Given the description of an element on the screen output the (x, y) to click on. 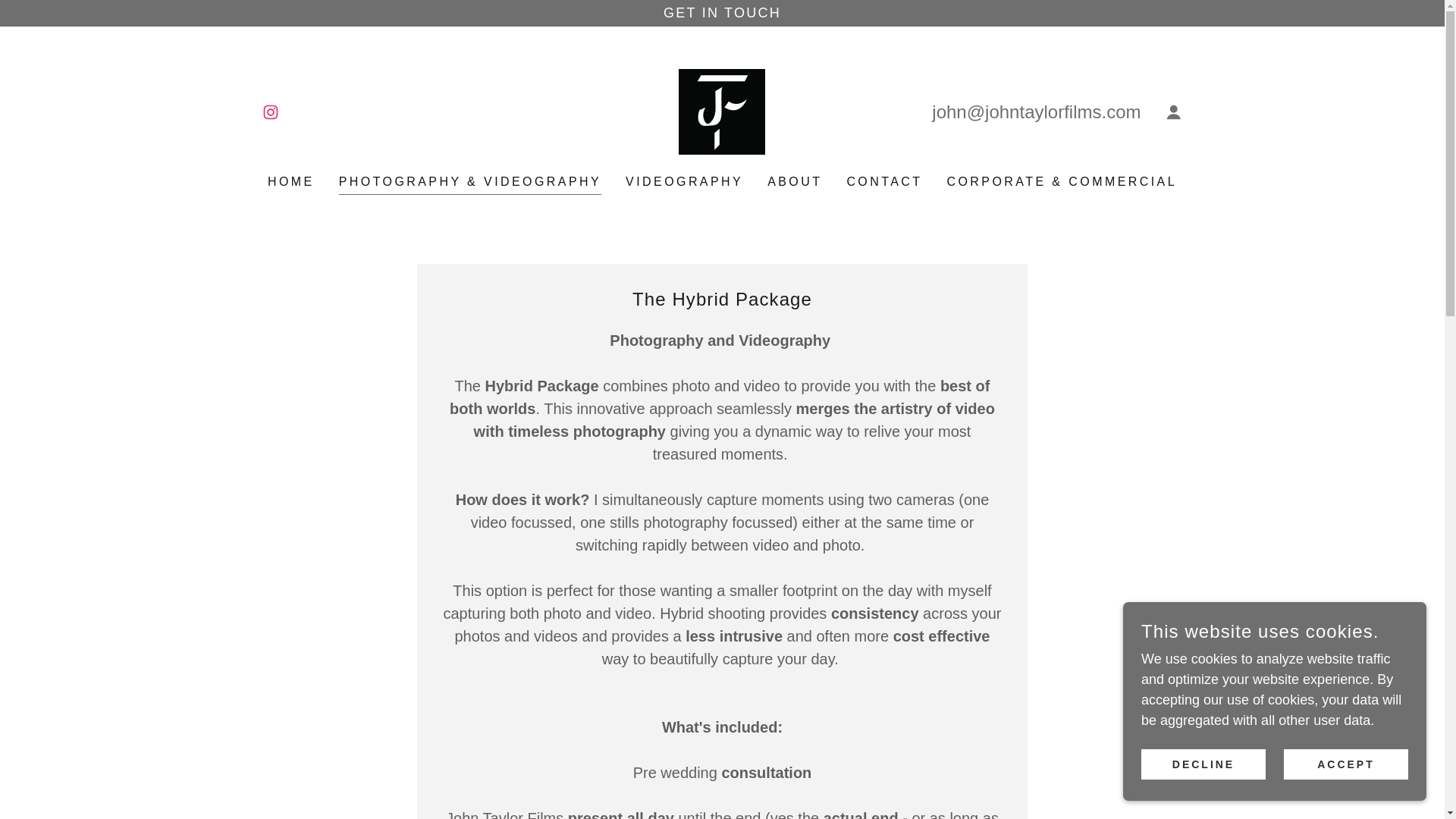
VIDEOGRAPHY (684, 181)
ABOUT (794, 181)
John Taylor Films (721, 110)
CONTACT (883, 181)
HOME (290, 181)
